Given the description of an element on the screen output the (x, y) to click on. 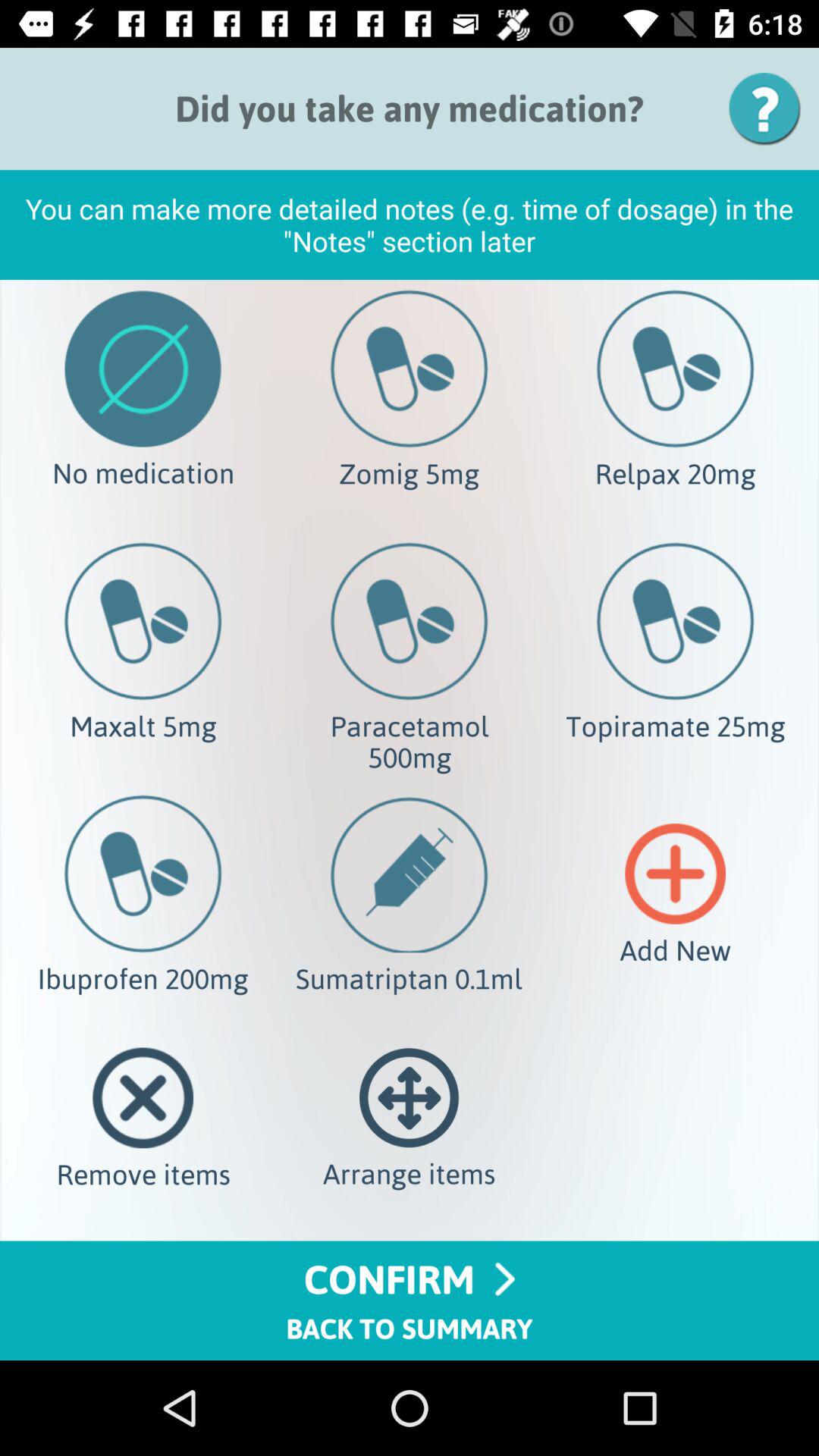
more clarification about taking medication (769, 108)
